Given the description of an element on the screen output the (x, y) to click on. 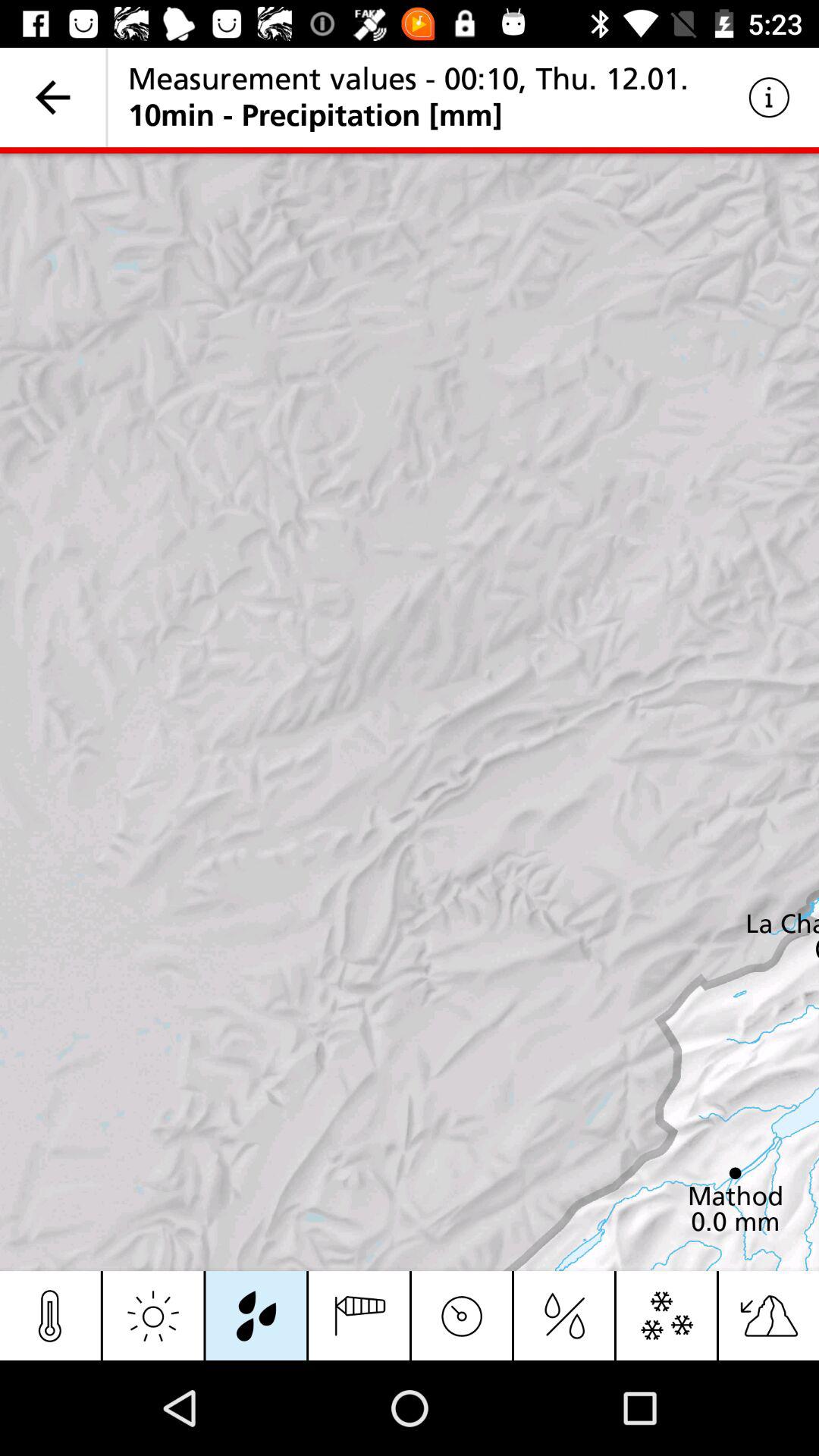
click item next to measurement values 00 item (52, 97)
